Given the description of an element on the screen output the (x, y) to click on. 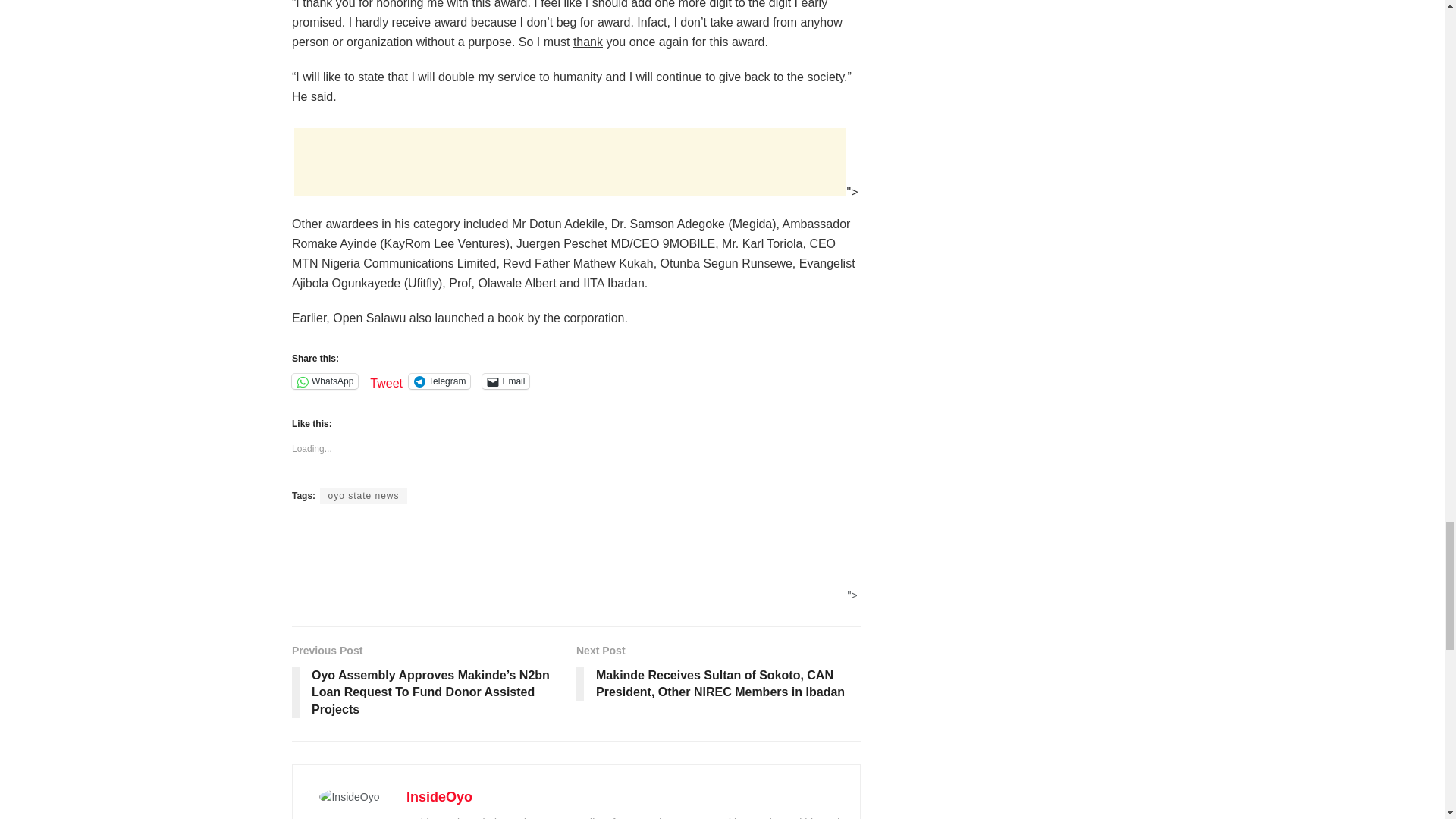
Click to email a link to a friend (505, 381)
Click to share on Telegram (439, 381)
Click to share on WhatsApp (325, 381)
